Given the description of an element on the screen output the (x, y) to click on. 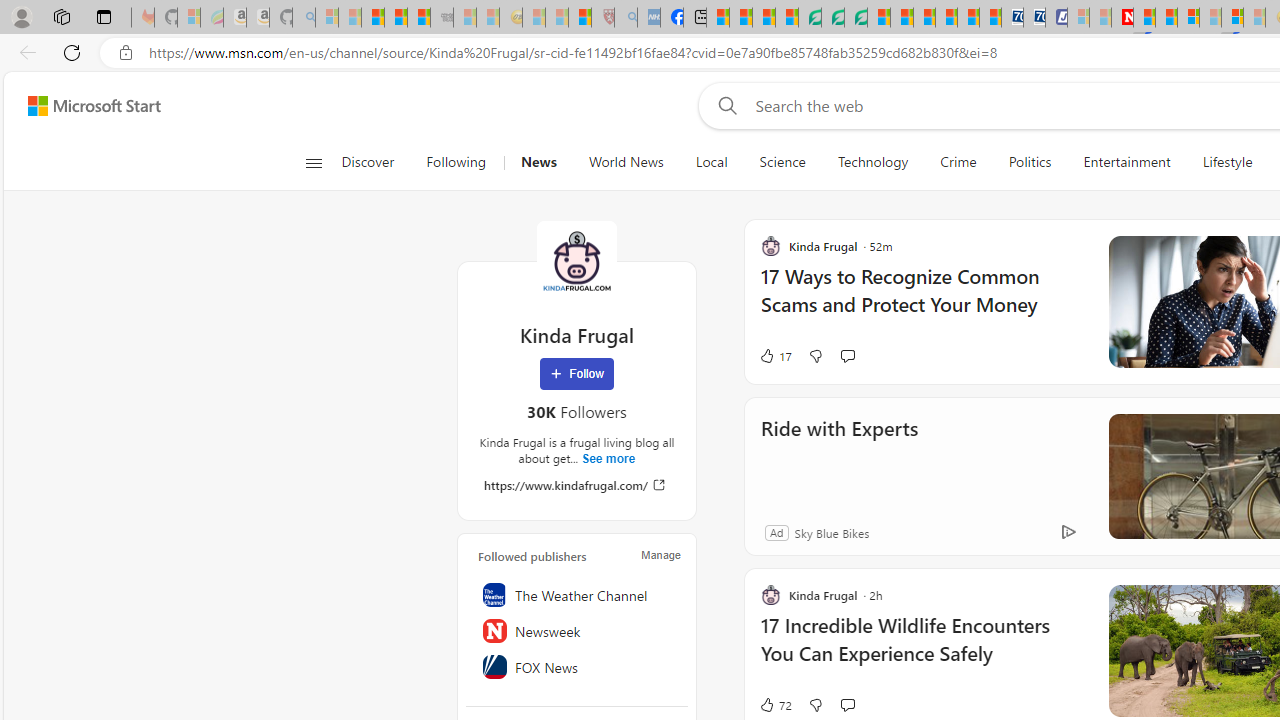
MSNBC - MSN (717, 17)
list of asthma inhalers uk - Search - Sleeping (625, 17)
Class: button-glyph (313, 162)
The Weather Channel - MSN (372, 17)
Kinda Frugal (576, 260)
Entertainment (1126, 162)
Open navigation menu (313, 162)
Crime (957, 162)
Cheap Car Rentals - Save70.com (1012, 17)
Start the conversation (847, 704)
Following (456, 162)
